Given the description of an element on the screen output the (x, y) to click on. 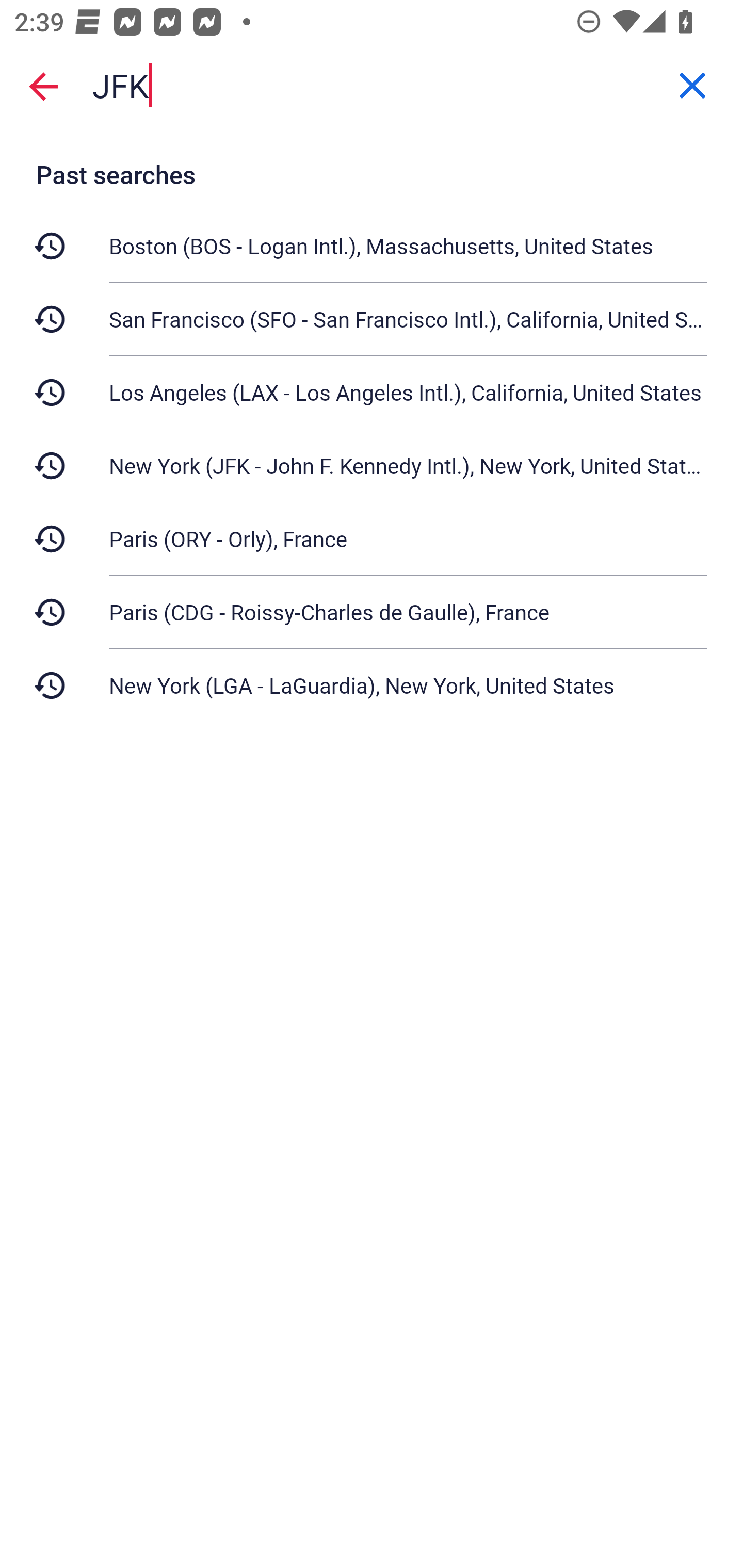
Clear Pick-up (692, 85)
Pick-up, JFK (371, 85)
Close search screen (43, 86)
